Given the description of an element on the screen output the (x, y) to click on. 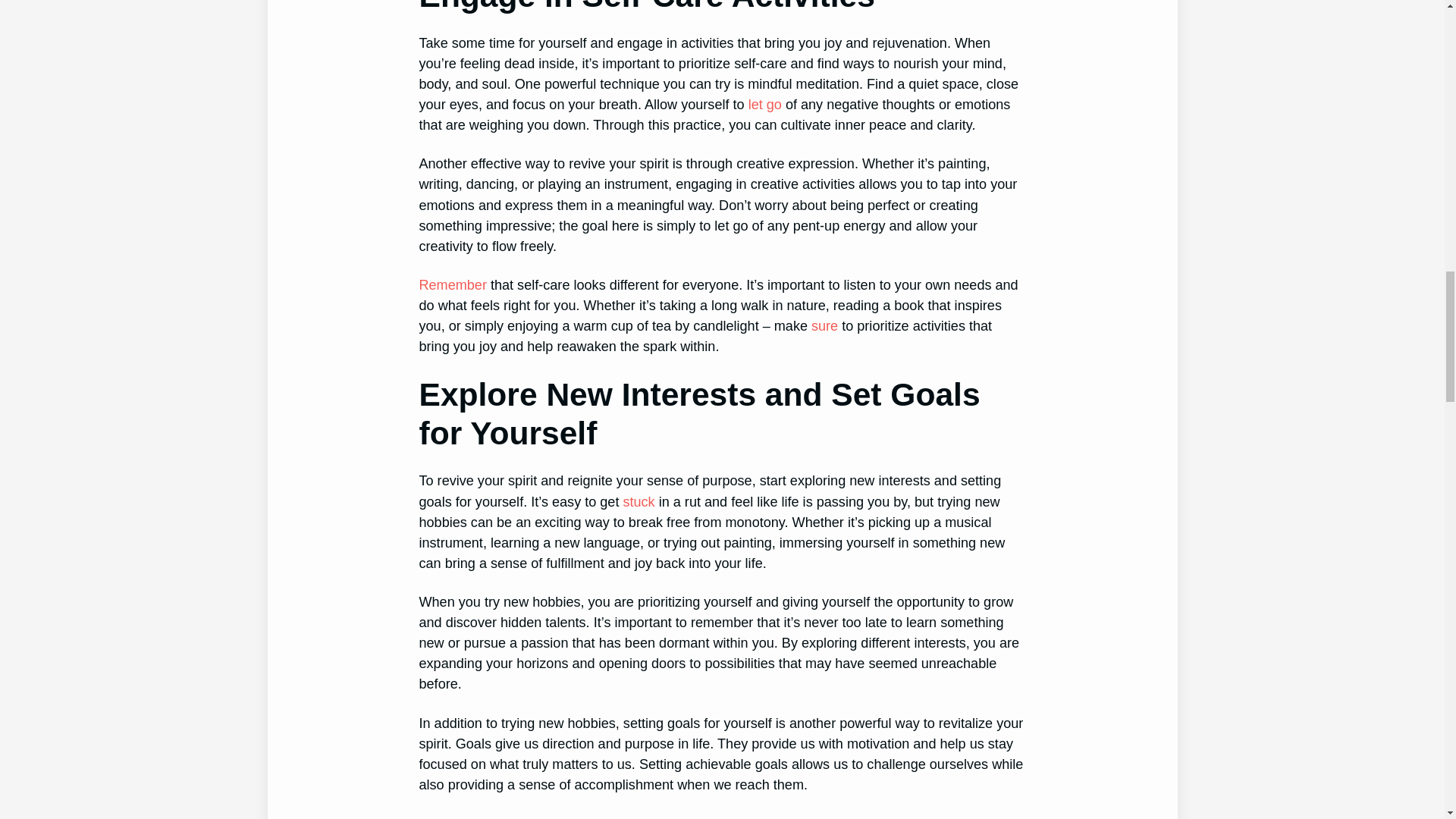
stuck (638, 501)
Remember (452, 284)
Remember (452, 284)
let go (764, 104)
sure (824, 325)
let go (764, 104)
stuck (638, 501)
sure (824, 325)
